Given the description of an element on the screen output the (x, y) to click on. 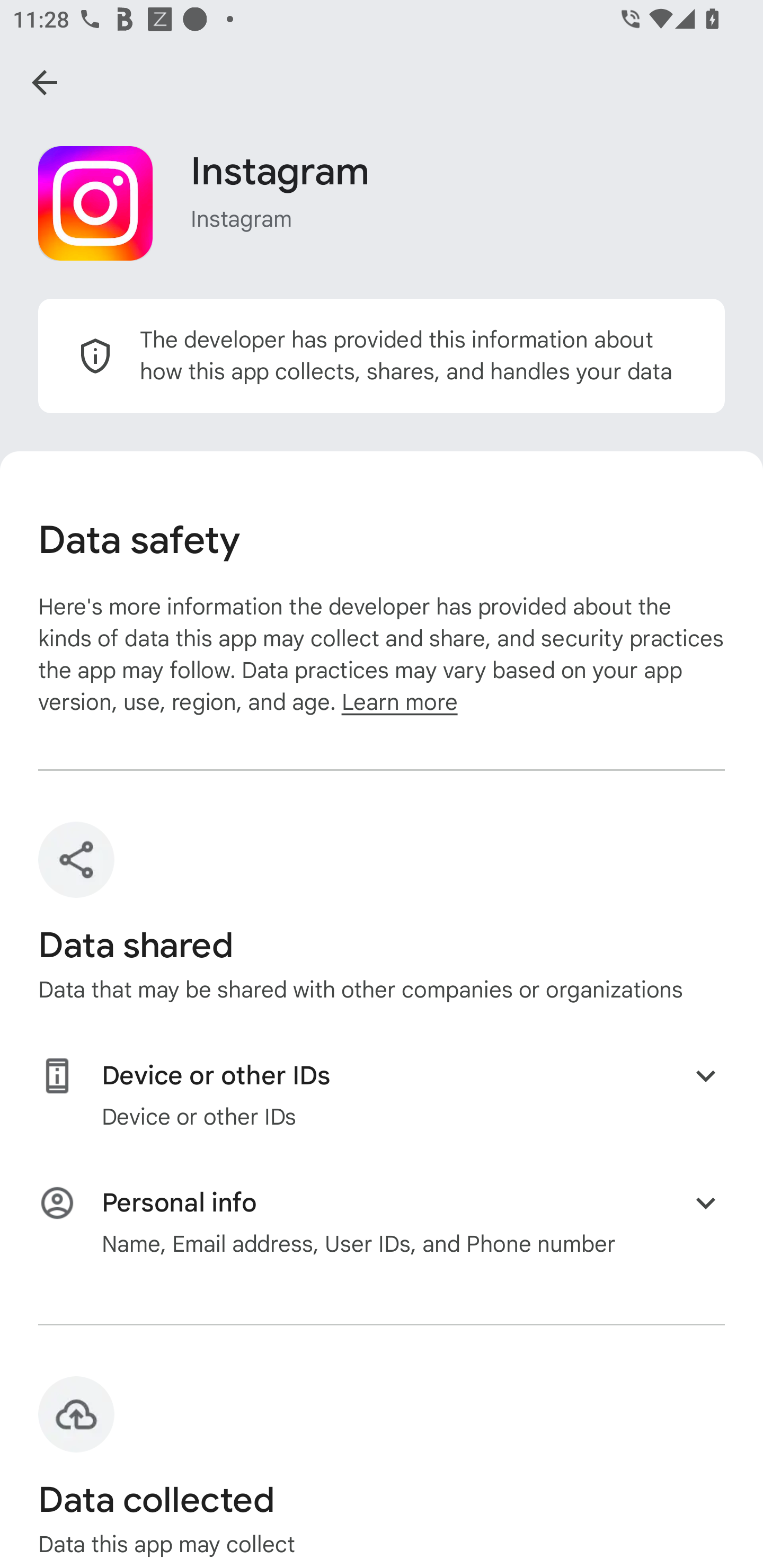
Navigate up (44, 82)
